Given the description of an element on the screen output the (x, y) to click on. 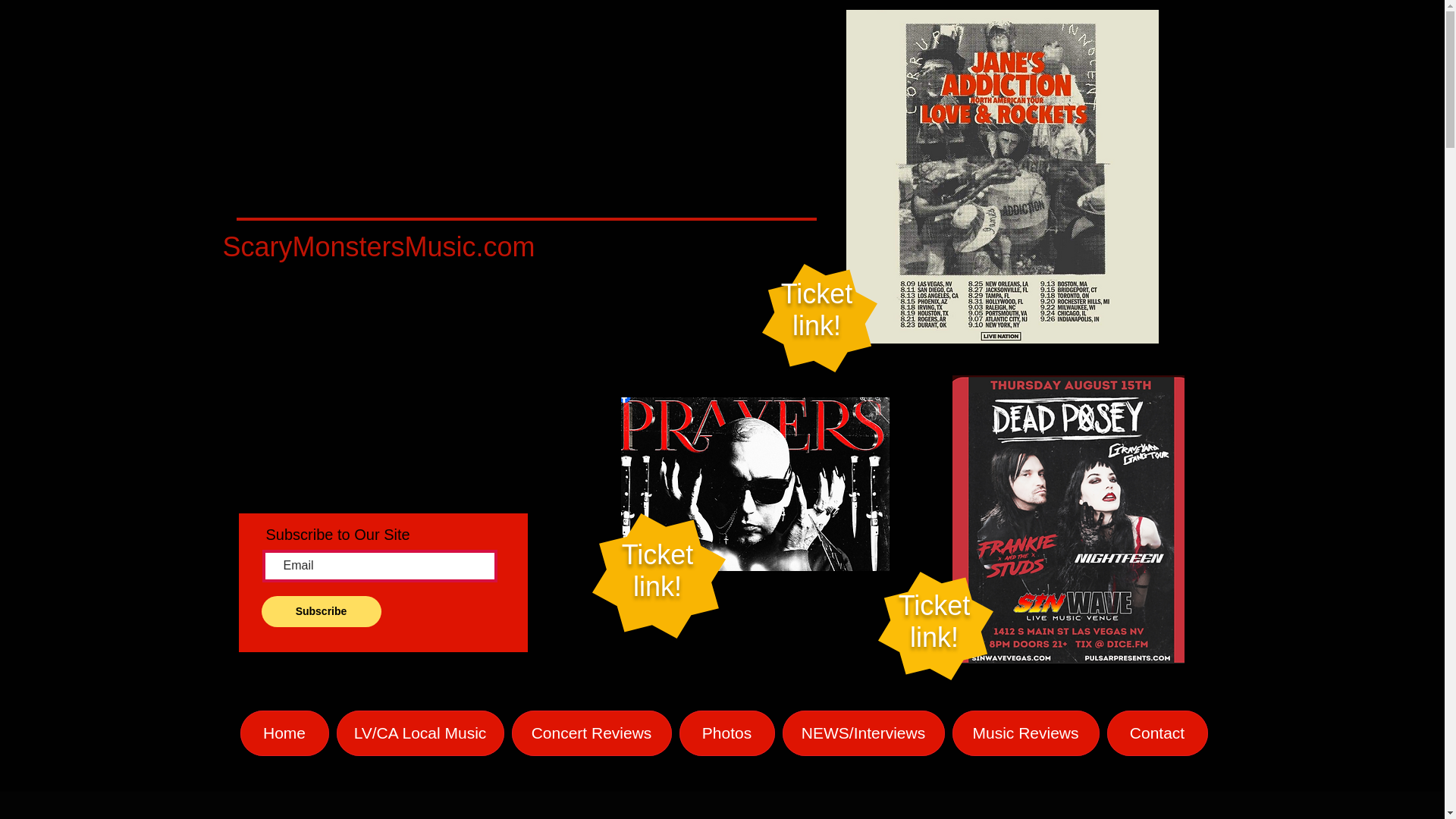
Subscribe (320, 611)
Music Reviews (934, 620)
Concert Reviews (816, 309)
Home (1025, 732)
Contact (657, 569)
Photos (591, 732)
